Given the description of an element on the screen output the (x, y) to click on. 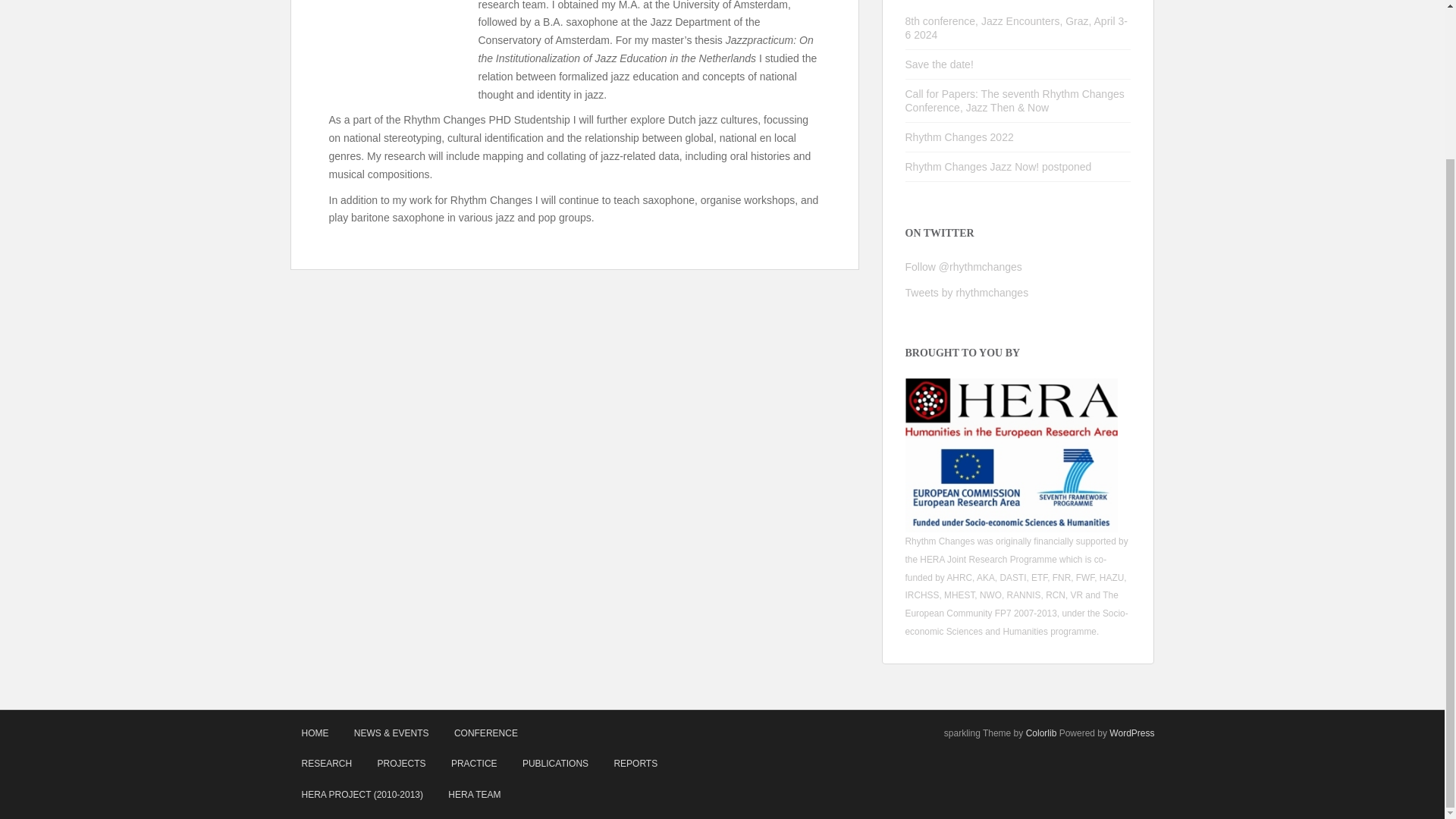
8th conference, Jazz Encounters, Graz, April 3-6 2024 (1015, 27)
Save the date! (939, 64)
HOME (314, 733)
CONFERENCE (485, 733)
REPORTS (635, 763)
PRACTICE (473, 763)
WordPress (1131, 733)
Rhythm Changes Jazz Now! postponed (998, 166)
PROJECTS (402, 763)
Colorlib (1041, 733)
HERA Joint Research Programme (988, 559)
HERA TEAM (474, 794)
ERA FP7 (1011, 485)
PUBLICATIONS (555, 763)
RESEARCH (325, 763)
